Given the description of an element on the screen output the (x, y) to click on. 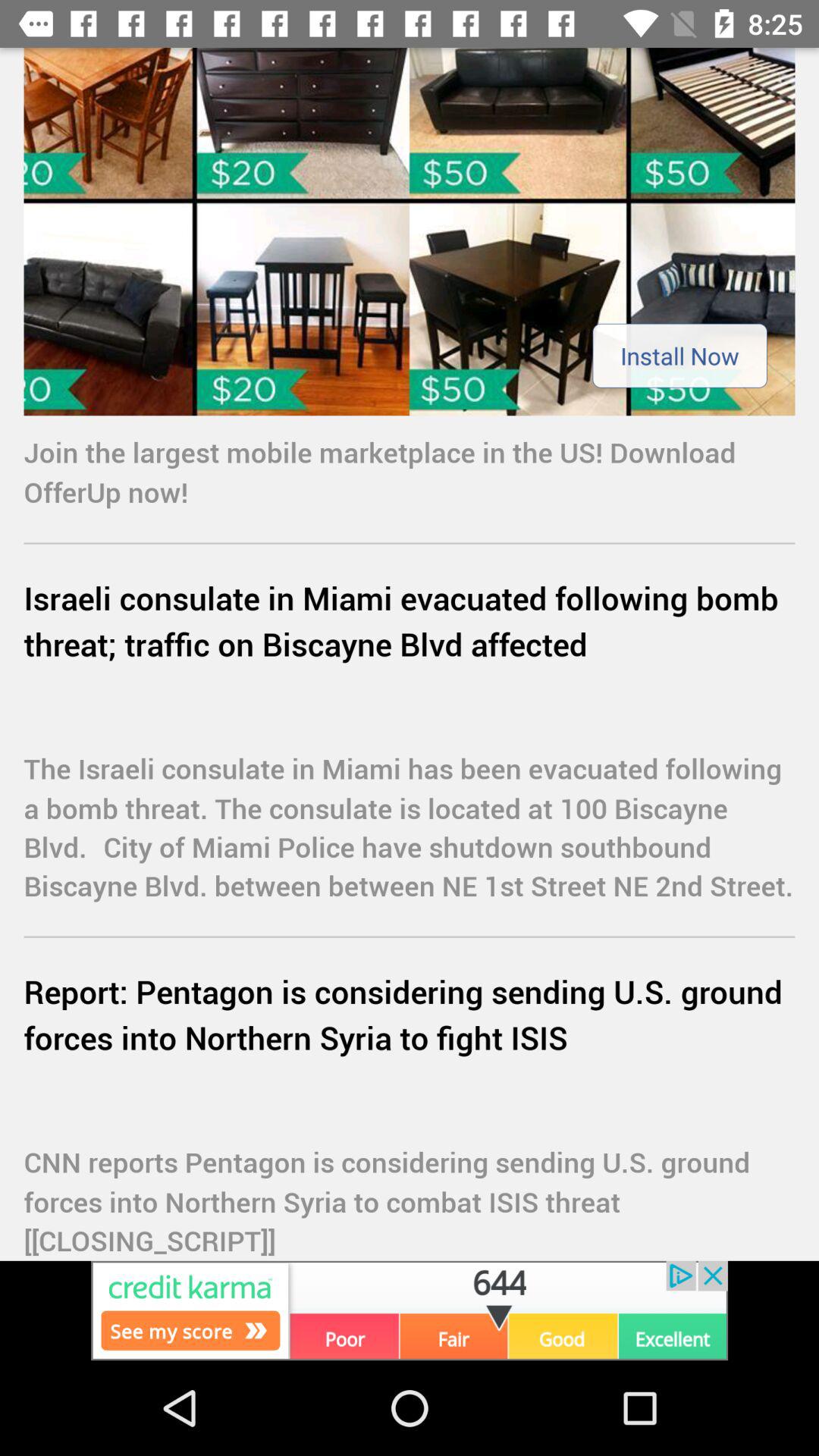
advertisement (409, 231)
